Given the description of an element on the screen output the (x, y) to click on. 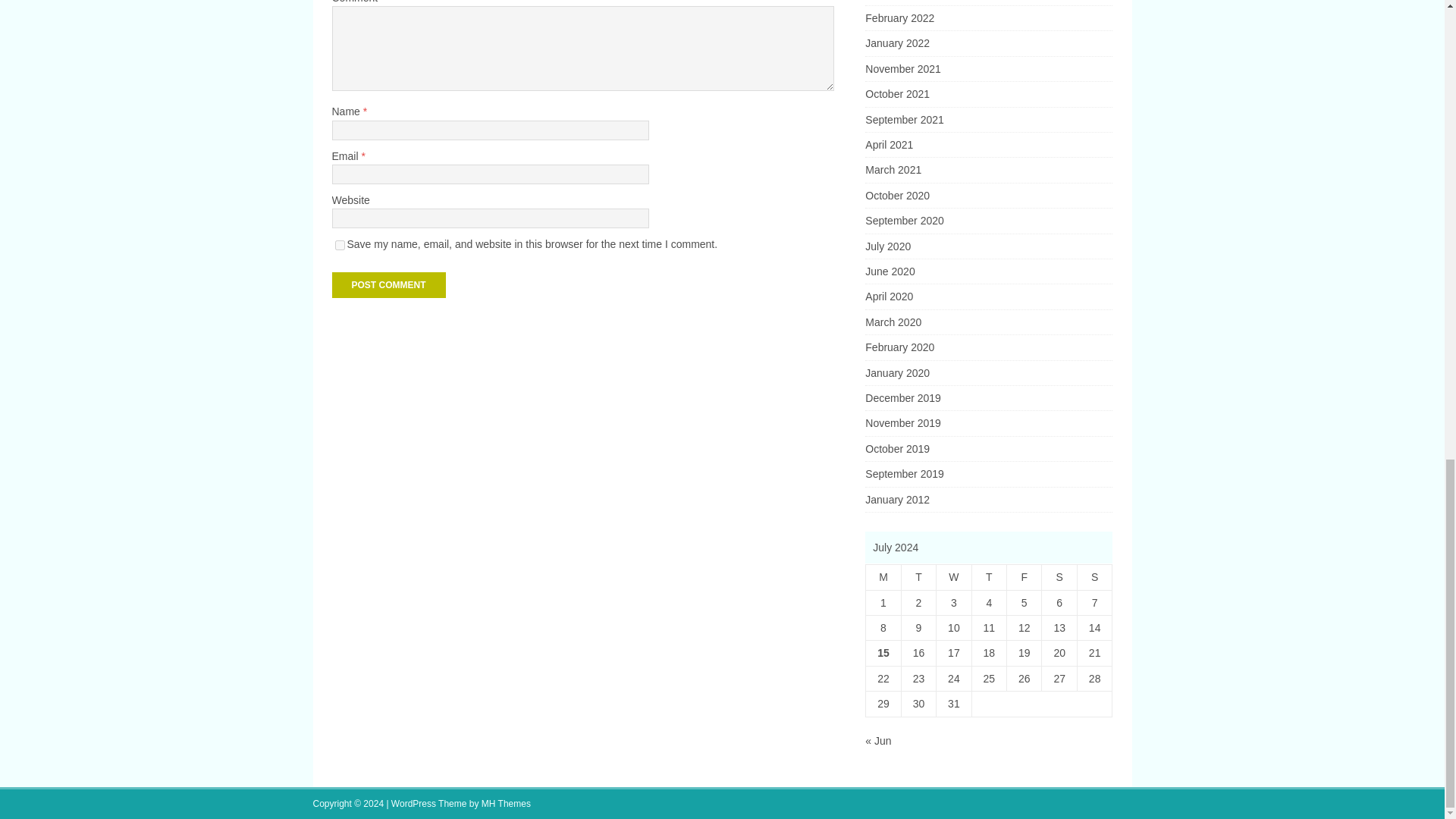
Sunday (1094, 577)
Wednesday (953, 577)
Thursday (988, 577)
Post Comment (388, 284)
Friday (1024, 577)
Saturday (1059, 577)
yes (339, 245)
Post Comment (388, 284)
Tuesday (918, 577)
Monday (883, 577)
